Given the description of an element on the screen output the (x, y) to click on. 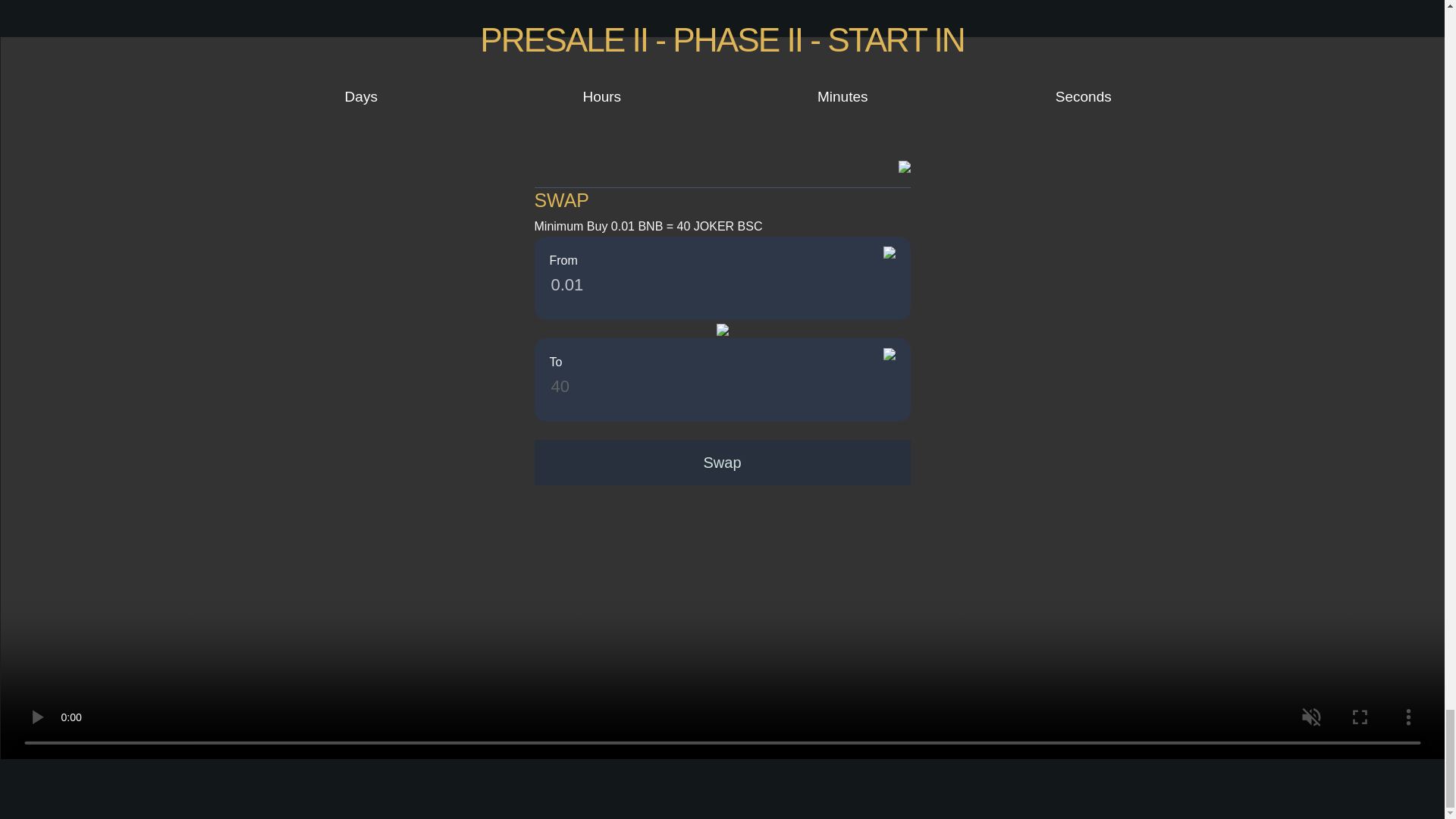
Swap (722, 462)
0.01 (679, 284)
